Given the description of an element on the screen output the (x, y) to click on. 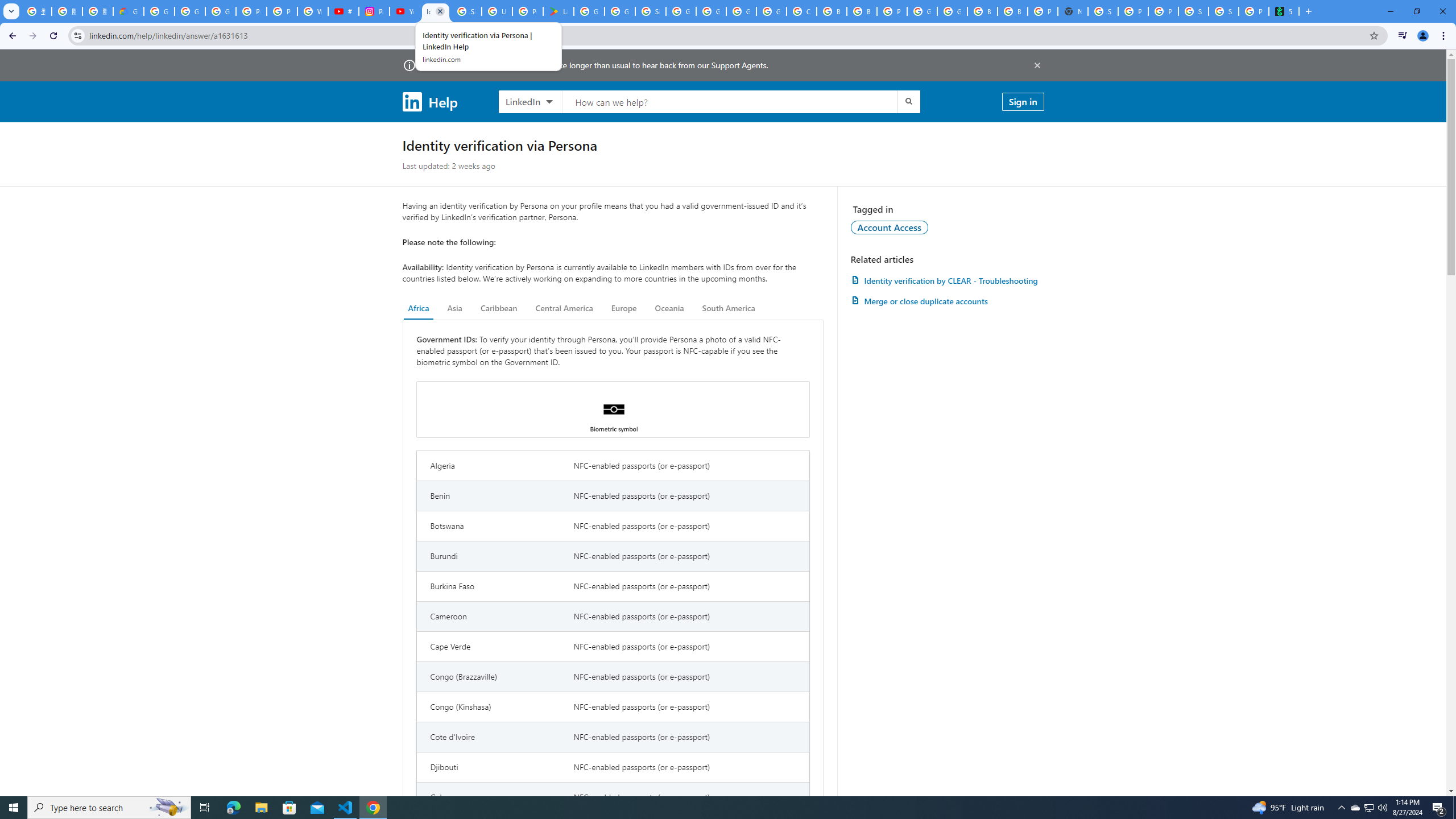
Control your music, videos, and more (1402, 35)
Google Cloud Platform (922, 11)
Browse Chrome as a guest - Computer - Google Chrome Help (830, 11)
Forward (32, 35)
Sign in - Google Accounts (465, 11)
LinkedIn products to search, LinkedIn selected (530, 101)
Search tabs (10, 11)
Reload (52, 35)
Bookmark this tab (1373, 35)
